Given the description of an element on the screen output the (x, y) to click on. 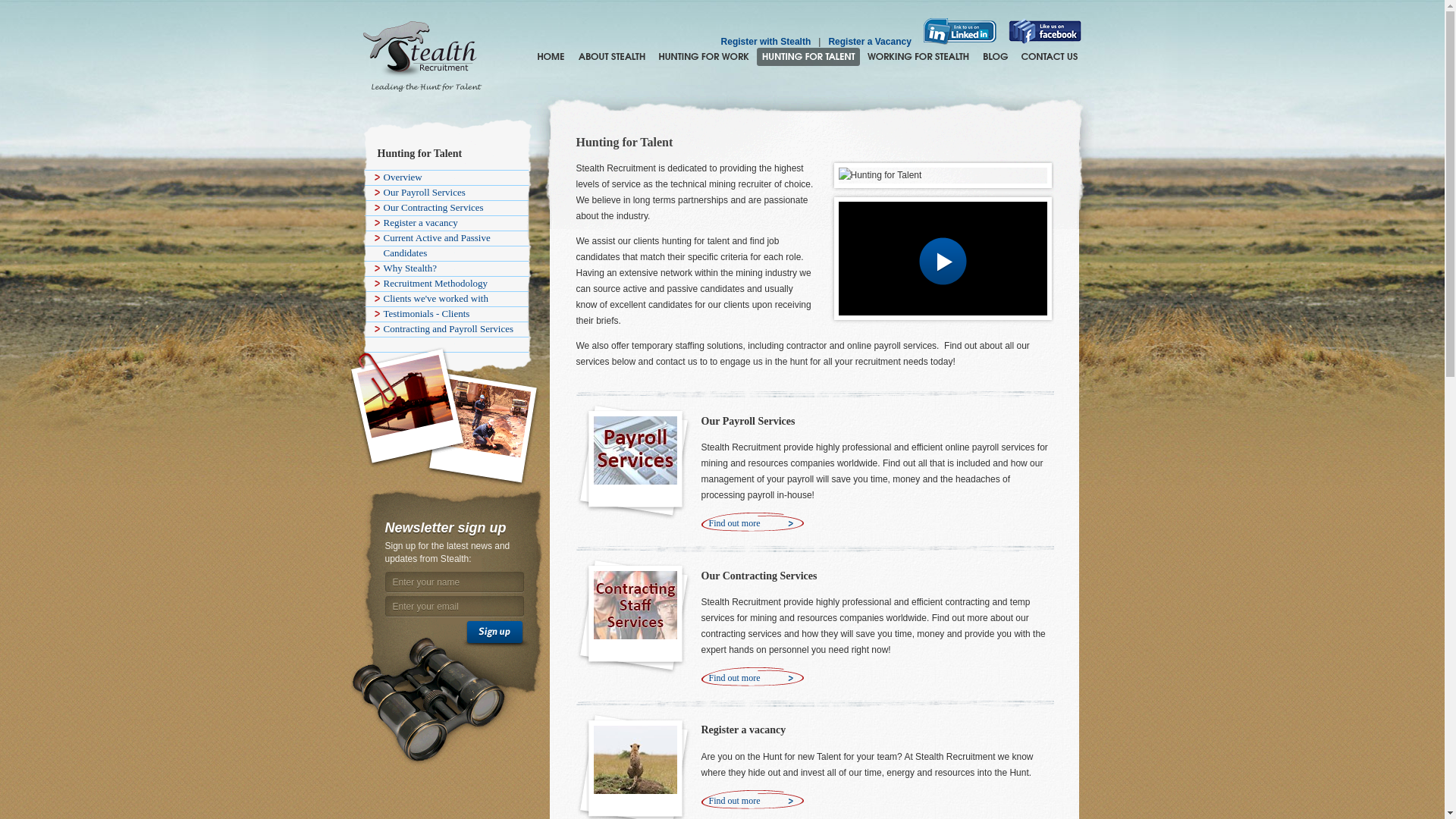
Enter your name (454, 581)
Join the Stealth hunting pack (918, 56)
Register a vacancy (443, 222)
Why Stealth? (443, 268)
Our Payroll Services (443, 192)
Our Payroll Services (747, 420)
Find out more (751, 800)
Watch this video (942, 259)
Find out more (751, 522)
Testimonials - Clients (443, 313)
Our Contracting Services (443, 207)
Find out more (751, 677)
Current Active and Passive Candidates (443, 245)
Sign up (496, 634)
Register with Stealth (765, 41)
